Given the description of an element on the screen output the (x, y) to click on. 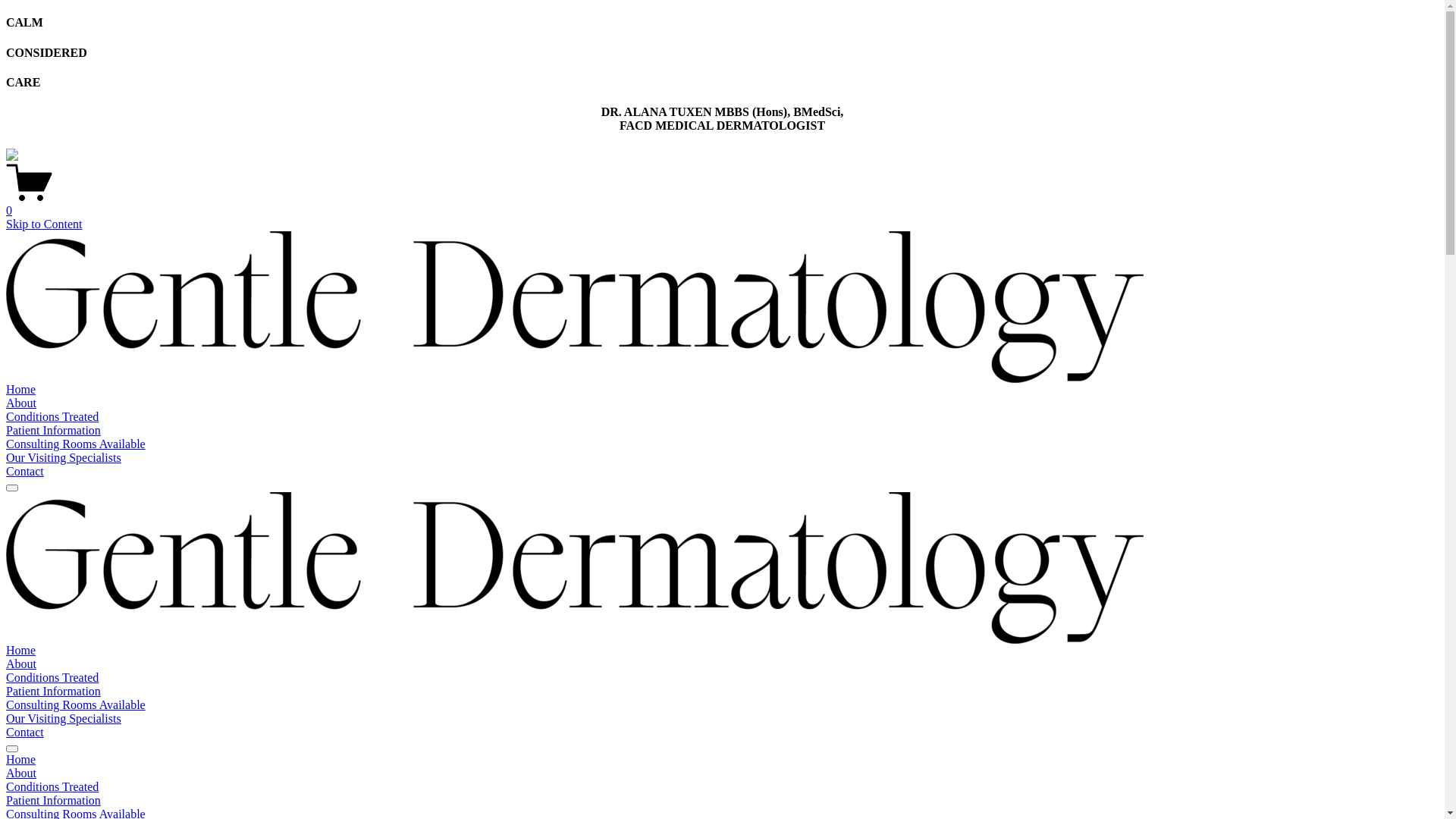
Home Element type: text (722, 759)
Our Visiting Specialists Element type: text (63, 457)
Consulting Rooms Available Element type: text (75, 704)
Contact Element type: text (24, 731)
About Element type: text (722, 773)
Patient Information Element type: text (722, 800)
Our Visiting Specialists Element type: text (63, 718)
About Element type: text (21, 663)
About Element type: text (21, 402)
Home Element type: text (20, 388)
Conditions Treated Element type: text (52, 416)
Conditions Treated Element type: text (52, 677)
Home Element type: text (20, 649)
Conditions Treated Element type: text (722, 786)
Contact Element type: text (24, 470)
Consulting Rooms Available Element type: text (75, 443)
Skip to Content Element type: text (43, 223)
Patient Information Element type: text (53, 690)
Patient Information Element type: text (53, 429)
0 Element type: text (722, 203)
